Given the description of an element on the screen output the (x, y) to click on. 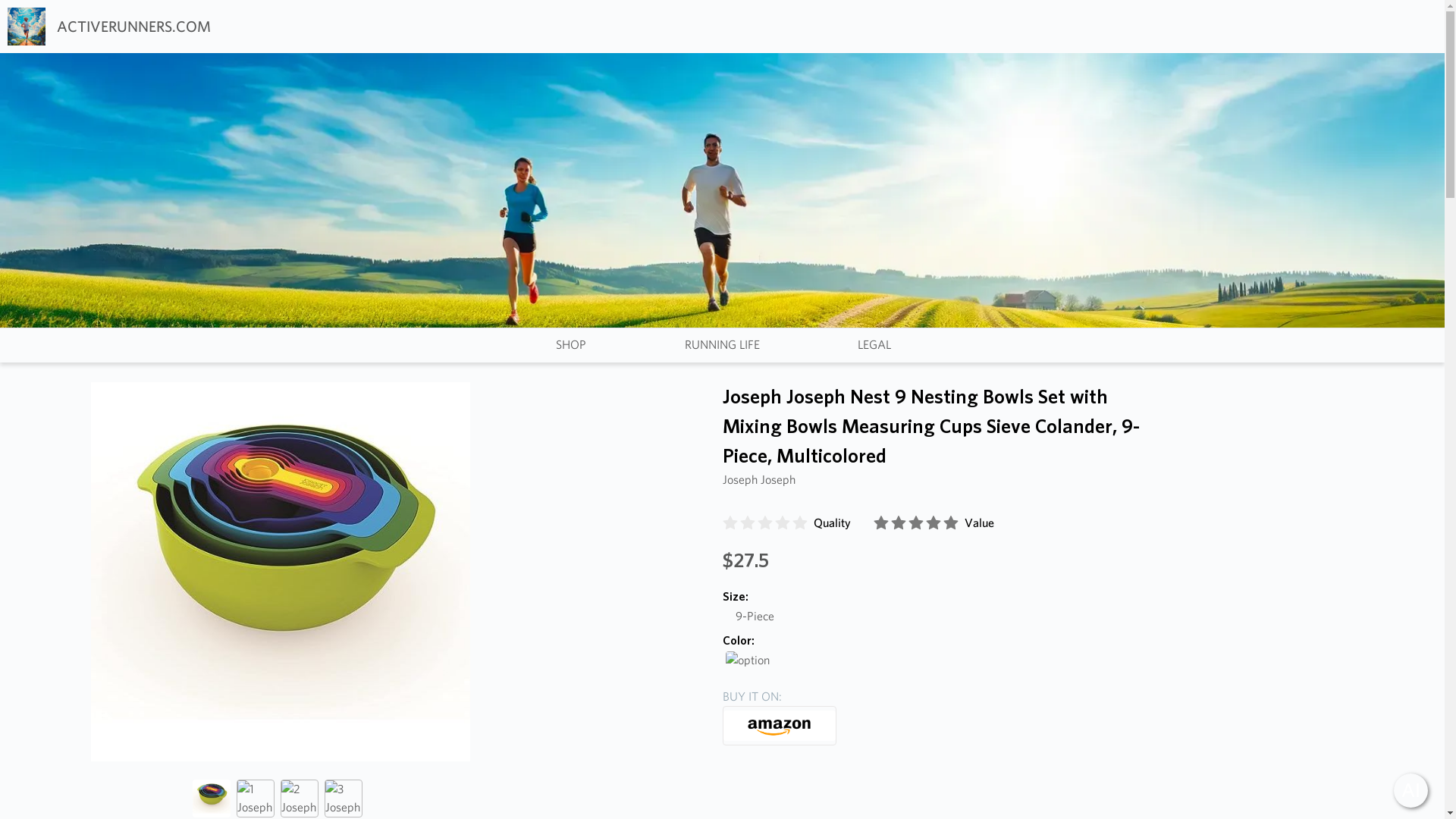
9-Piece (754, 615)
LEGAL (873, 344)
activerunners.com (109, 26)
0 (765, 518)
SHOP (570, 344)
Joseph Joseph (758, 479)
RUNNING LIFE (721, 344)
5 (916, 518)
ACTIVERUNNERS.COM (109, 26)
